Given the description of an element on the screen output the (x, y) to click on. 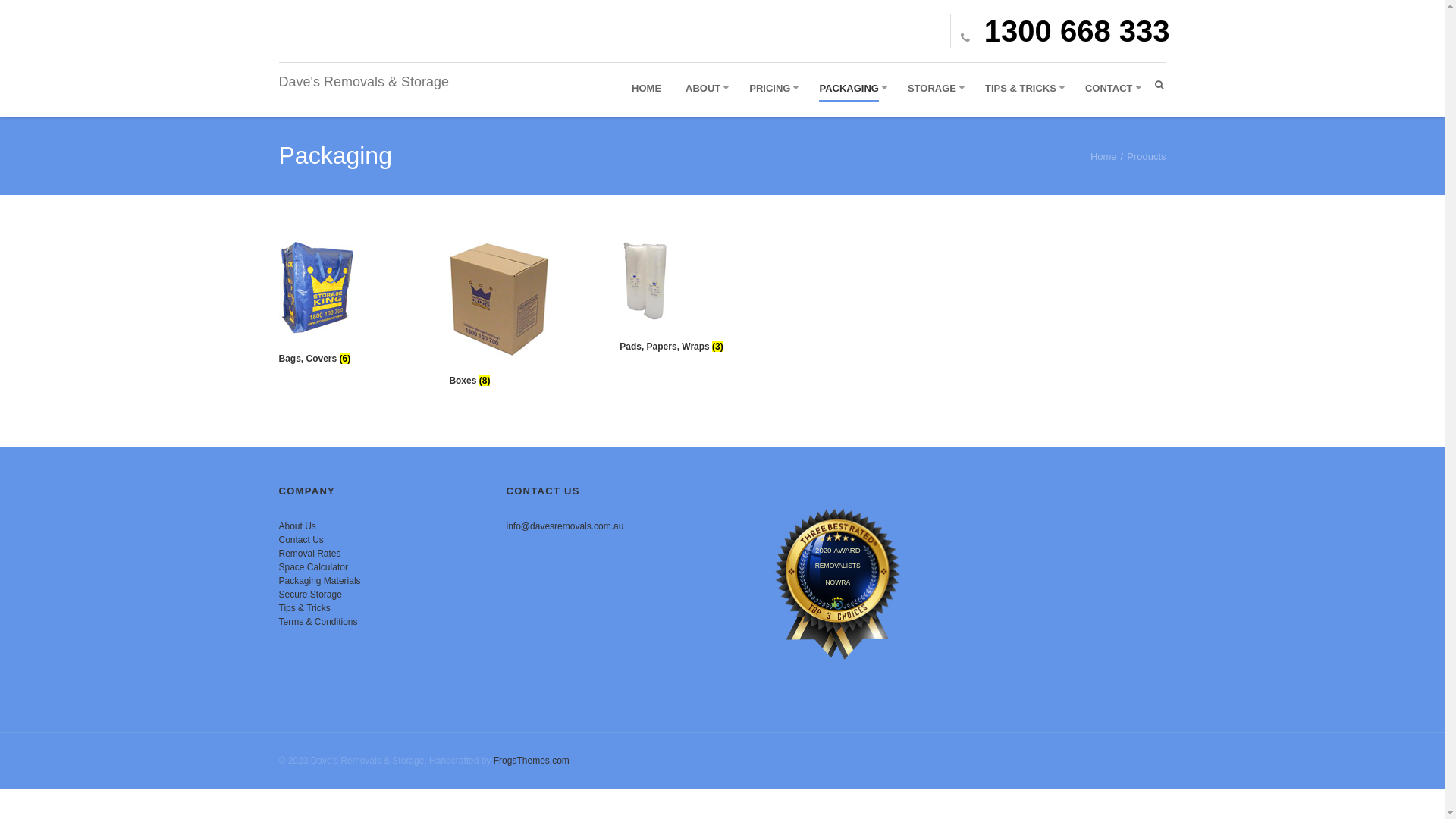
PRICING Element type: text (769, 88)
Secure Storage Element type: text (310, 594)
PACKAGING Element type: text (848, 88)
FrogsThemes.com Element type: text (531, 760)
Boxes (8) Element type: text (521, 317)
Dave's Removals & Storage Element type: text (363, 81)
STORAGE Element type: text (931, 88)
Bags, Covers (6) Element type: text (351, 306)
Terms & Conditions Element type: text (318, 621)
About Us Element type: text (297, 525)
Tips & Tricks Element type: text (304, 607)
Space Calculator Element type: text (313, 566)
ABOUT Element type: text (702, 88)
1300 668 333 Element type: text (1060, 30)
Removal Rates Element type: text (310, 553)
Home Element type: text (1103, 156)
TIPS & TRICKS Element type: text (1020, 88)
info@davesremovals.com.au Element type: text (565, 525)
Packaging Materials Element type: text (319, 580)
Pads, Papers, Wraps (3) Element type: text (692, 300)
HOME Element type: text (646, 88)
CONTACT Element type: text (1108, 88)
Contact Us Element type: text (301, 539)
